Given the description of an element on the screen output the (x, y) to click on. 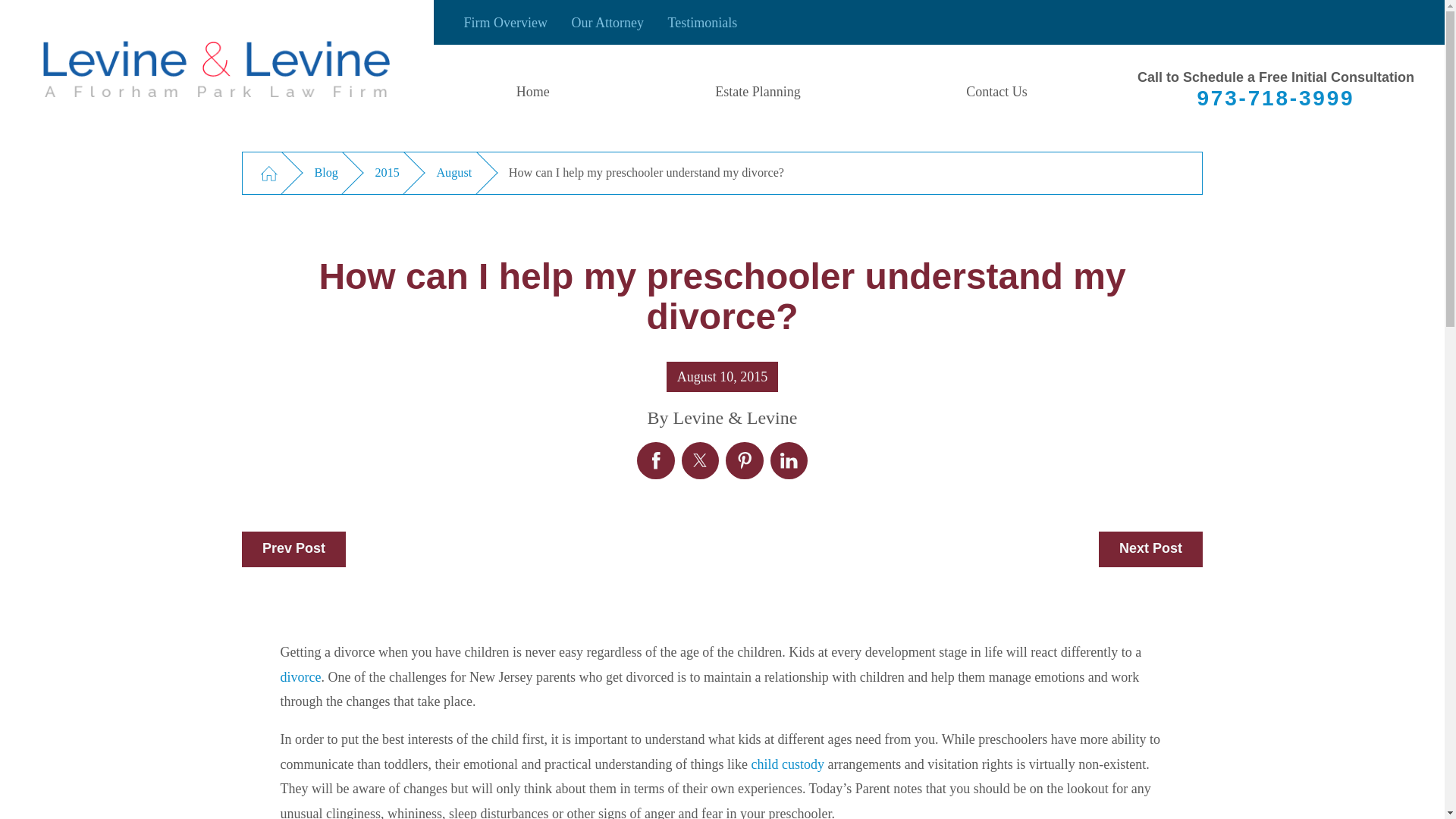
Testimonials (701, 22)
973-718-3999 (1275, 97)
child custody (787, 764)
Estate Planning (757, 91)
Our Attorney (606, 22)
August (453, 173)
2015 (386, 173)
Go Home (269, 172)
Prev Post (293, 549)
Contact Us (996, 91)
